Given the description of an element on the screen output the (x, y) to click on. 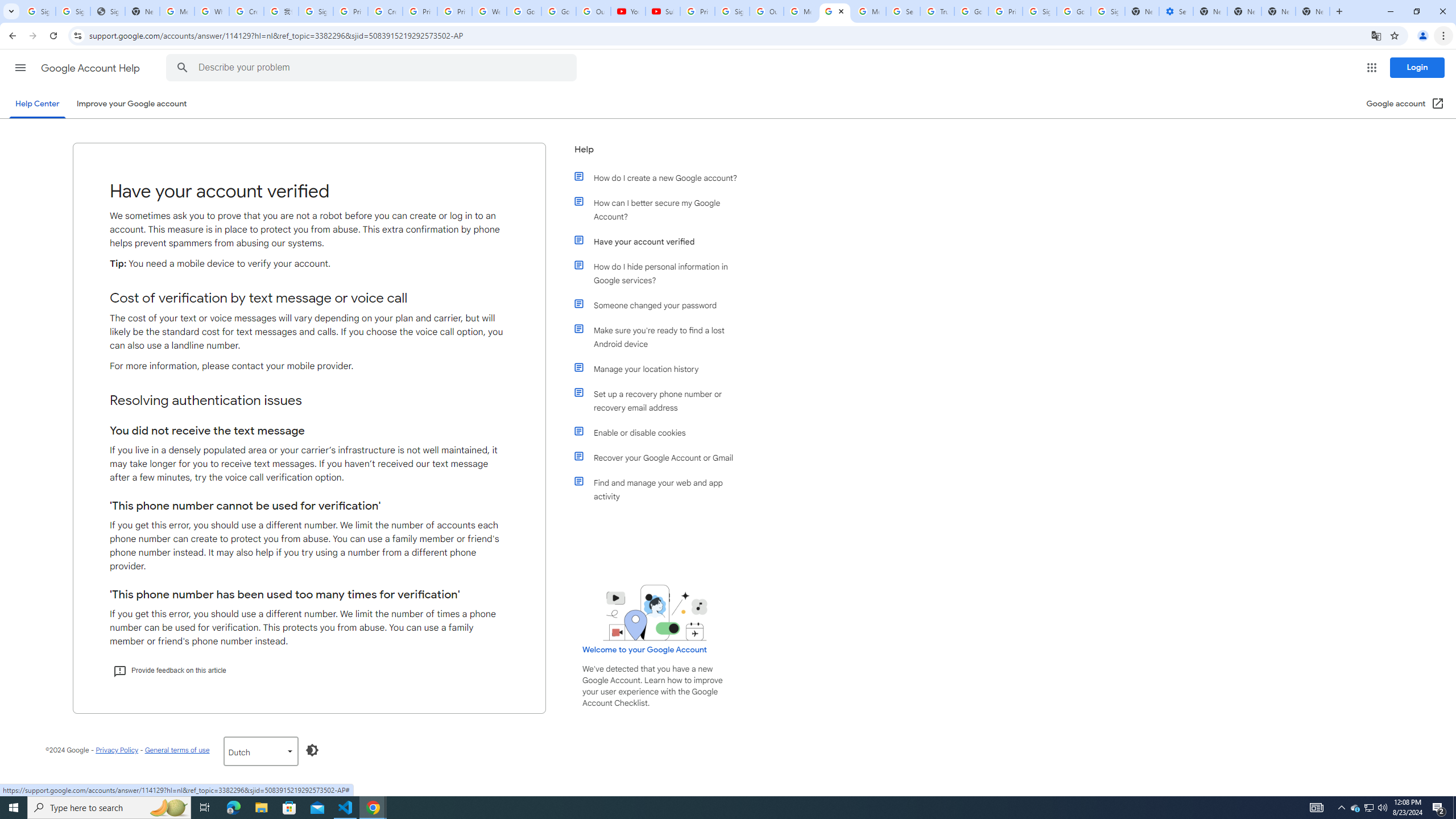
Sign in - Google Accounts (1107, 11)
Set up a recovery phone number or recovery email address (661, 400)
